Given the description of an element on the screen output the (x, y) to click on. 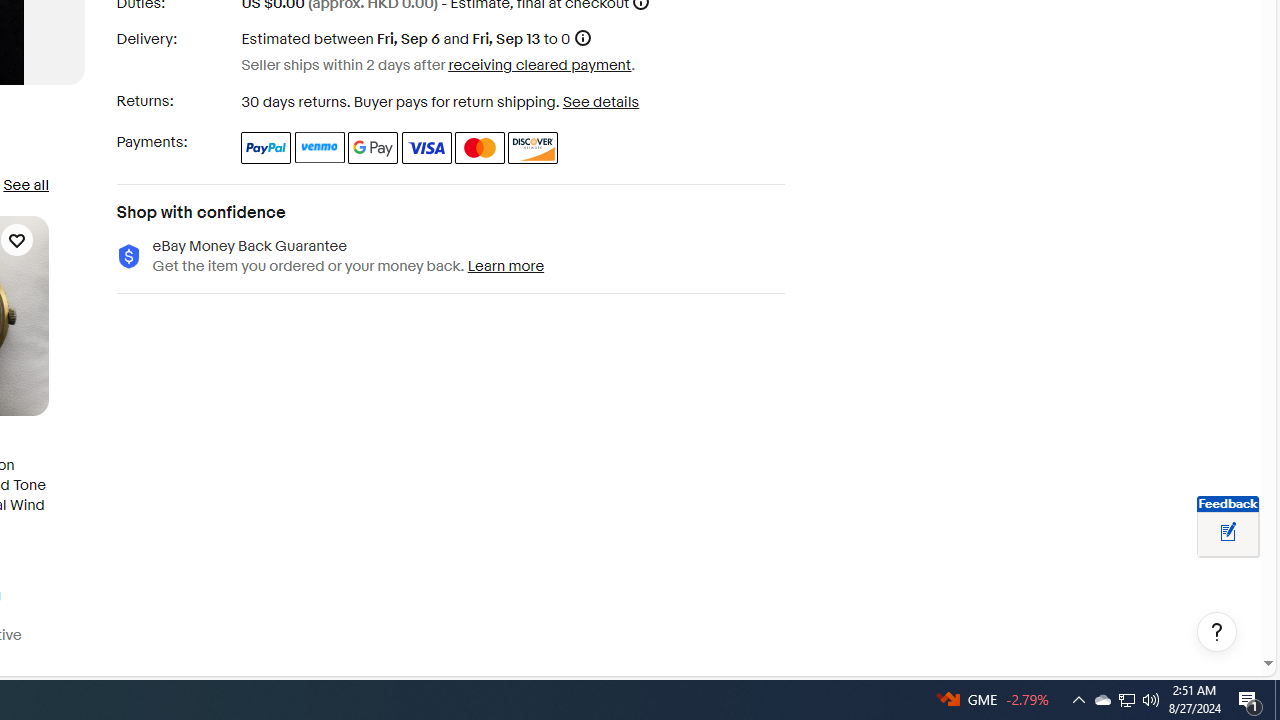
See all (25, 184)
receiving cleared payment (540, 64)
PayPal (265, 147)
Leave feedback about your eBay ViewItem experience (1227, 533)
Master Card (479, 147)
See details - for more information about returns (600, 102)
Google Pay (373, 147)
Venmo (319, 147)
Visa (425, 147)
Help, opens dialogs (1217, 632)
